Given the description of an element on the screen output the (x, y) to click on. 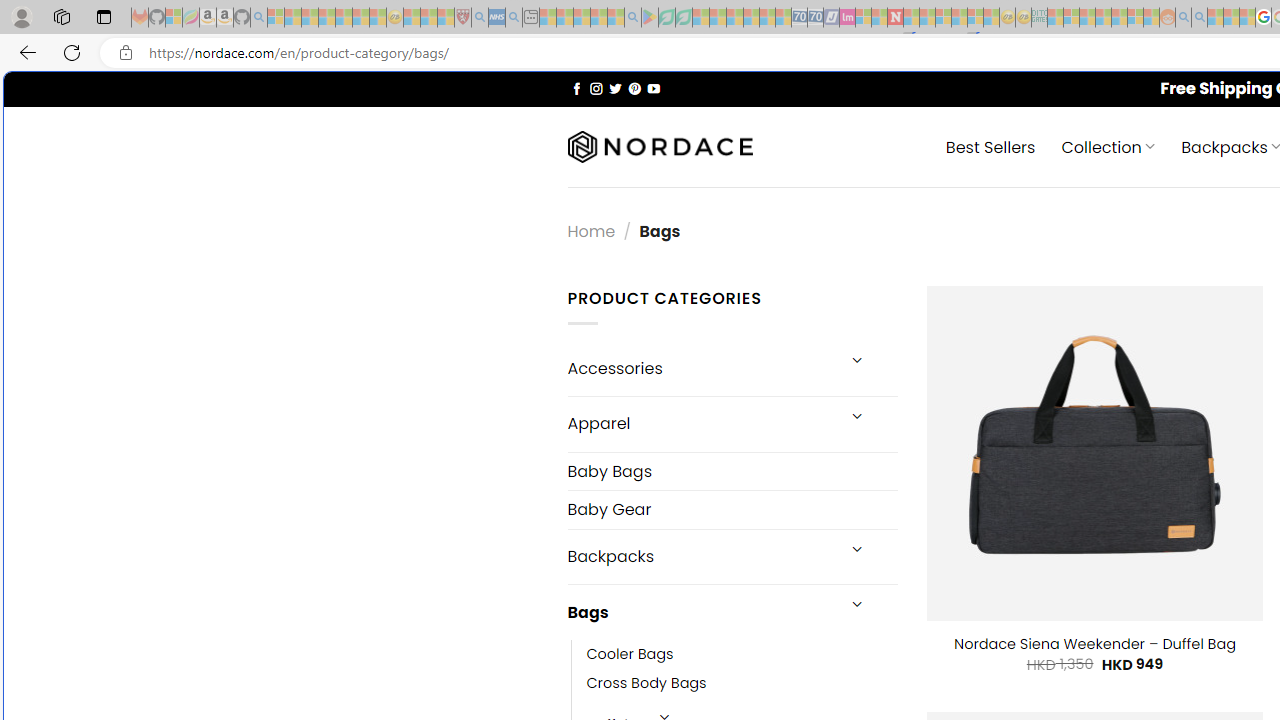
Cooler Bags (742, 655)
Apparel (700, 423)
Follow on Facebook (576, 88)
Accessories (700, 368)
  Best Sellers (989, 146)
